Given the description of an element on the screen output the (x, y) to click on. 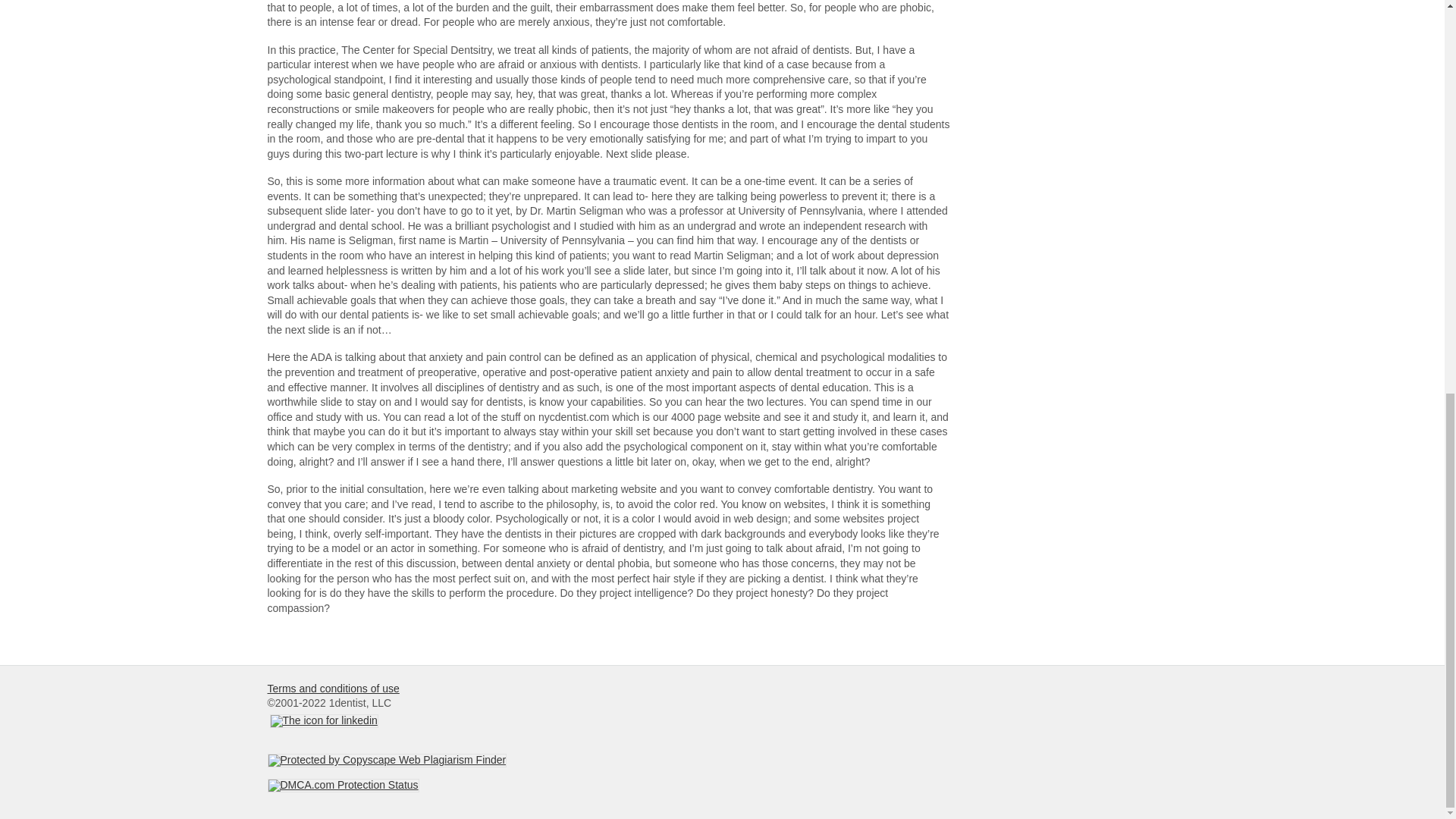
Terms and conditions of use (332, 688)
DMCA.com Protection Status (342, 784)
